Given the description of an element on the screen output the (x, y) to click on. 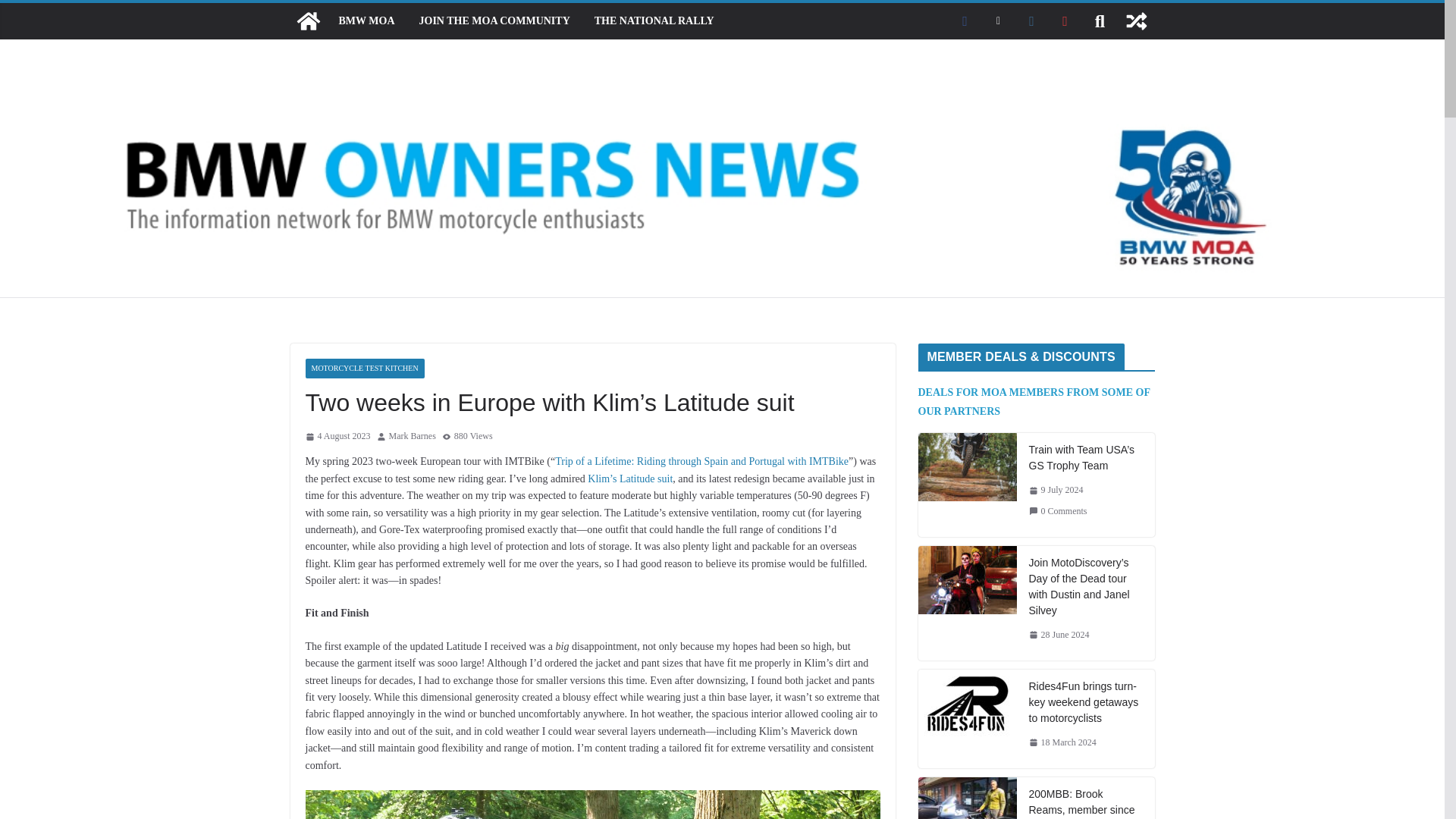
MOTORCYCLE TEST KITCHEN (363, 368)
Mark Barnes (411, 436)
4 August 2023 (336, 436)
THE NATIONAL RALLY (654, 20)
BMW Owners News (307, 21)
9 July 2024 (1055, 490)
08:00 (336, 436)
Mark Barnes (411, 436)
BMW MOA (365, 20)
JOIN THE MOA COMMUNITY (494, 20)
View a random post (1136, 21)
